Given the description of an element on the screen output the (x, y) to click on. 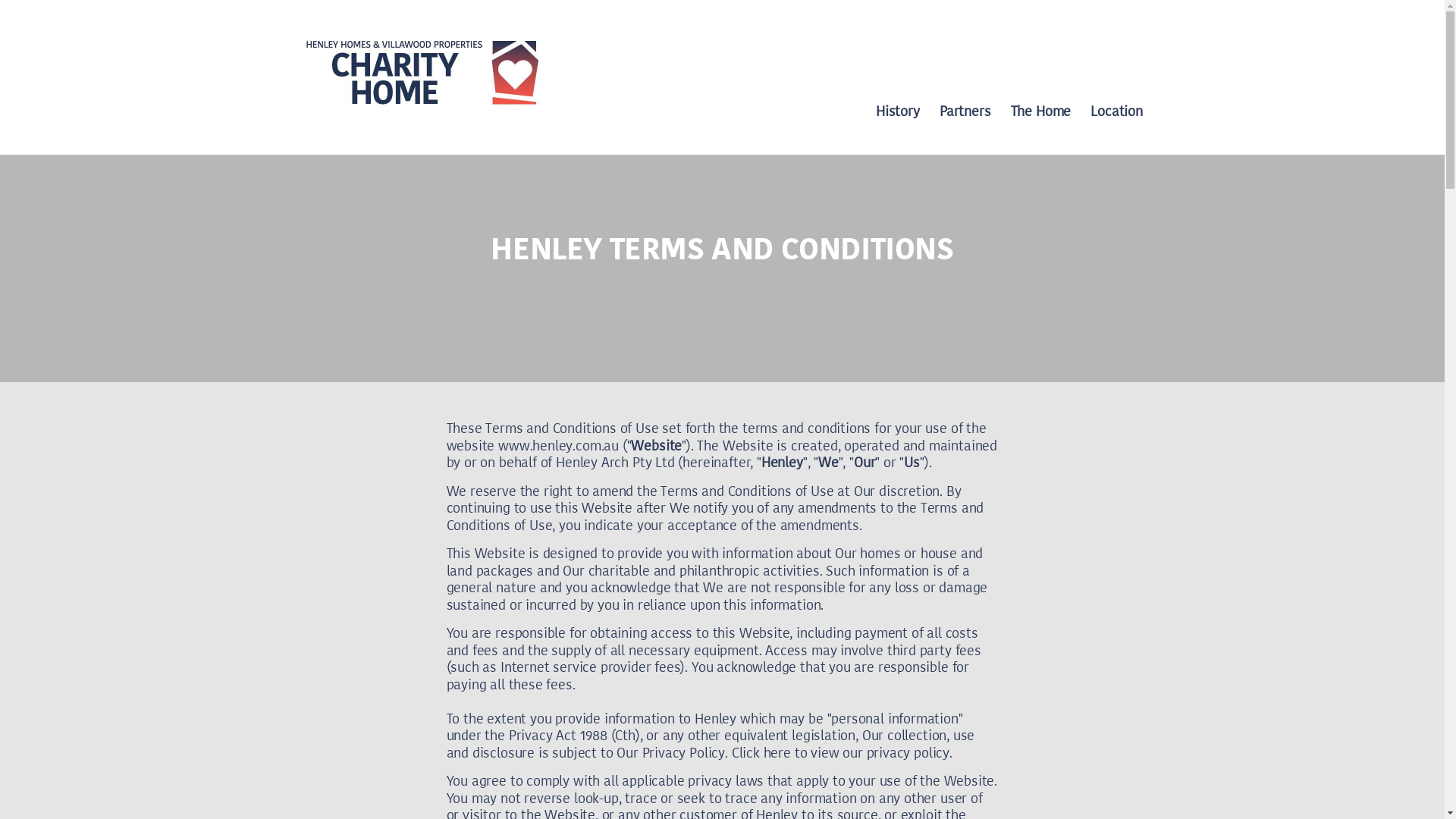
Click here to view our privacy policy Element type: text (840, 752)
Partners Element type: text (965, 110)
History Element type: text (897, 110)
The Home Element type: text (1040, 110)
Location Element type: text (1116, 110)
